Given the description of an element on the screen output the (x, y) to click on. 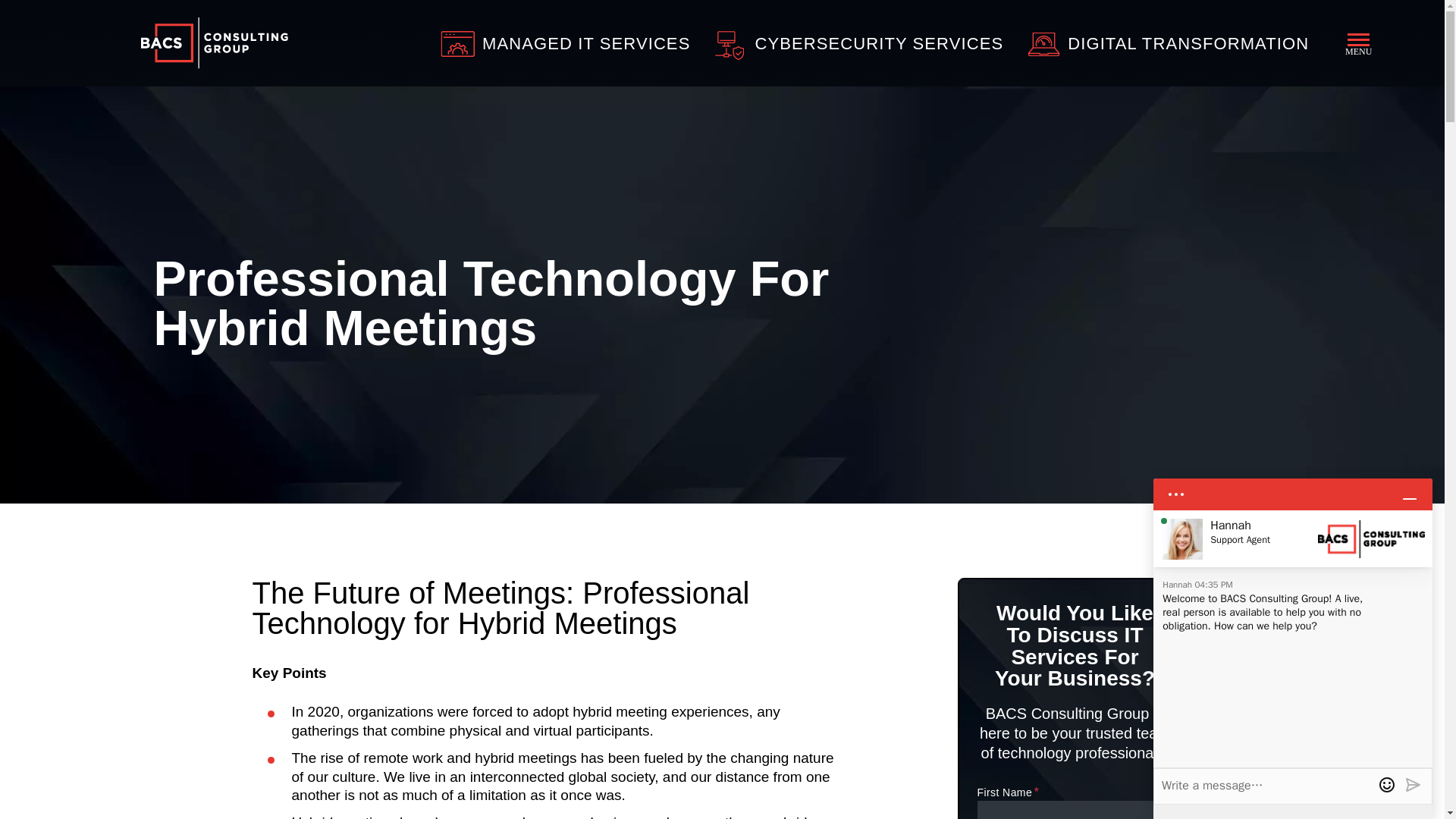
Bacs logo (214, 42)
